Given the description of an element on the screen output the (x, y) to click on. 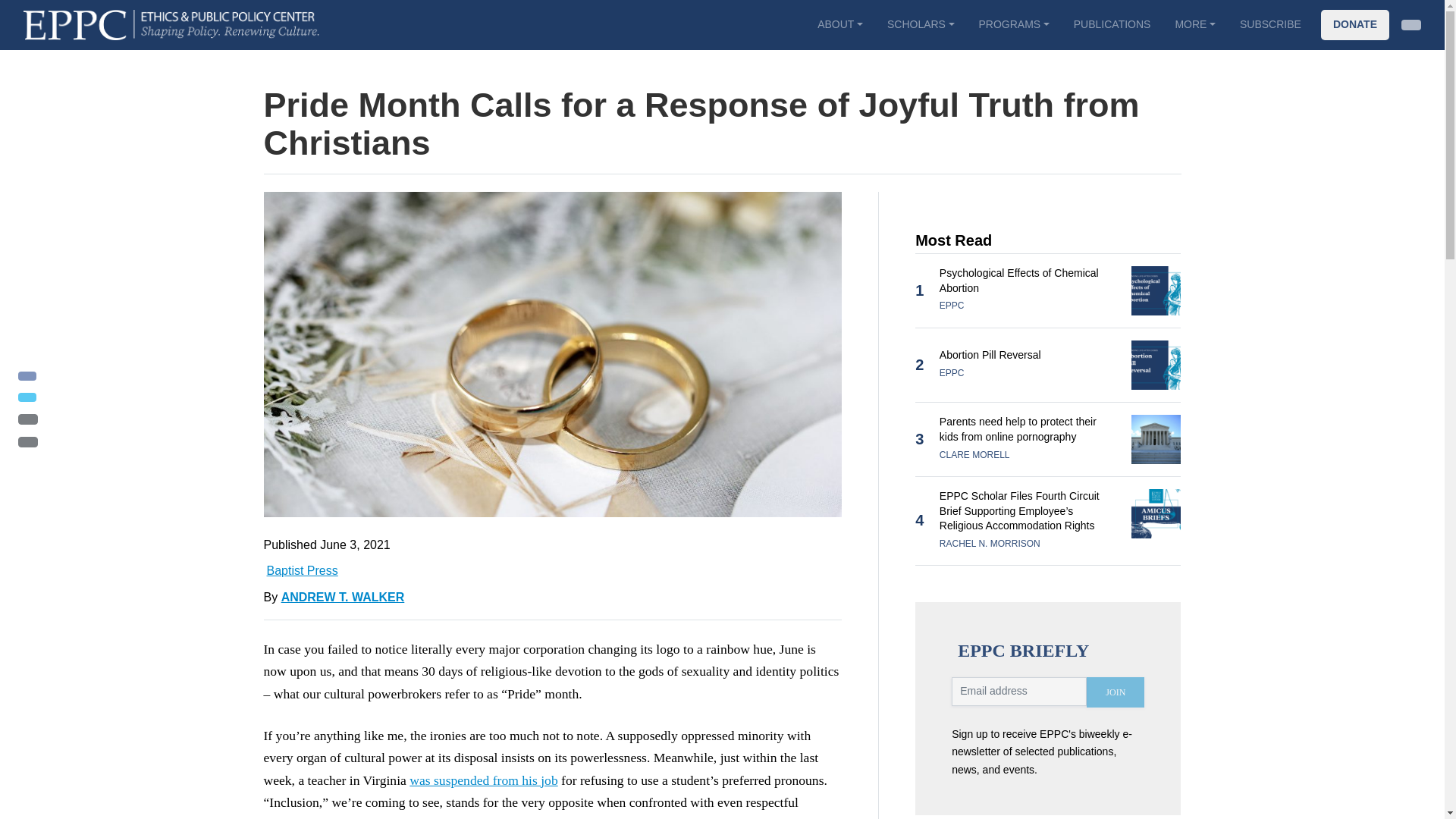
ABOUT (840, 24)
JOIN (1115, 692)
SCHOLARS (920, 24)
